Given the description of an element on the screen output the (x, y) to click on. 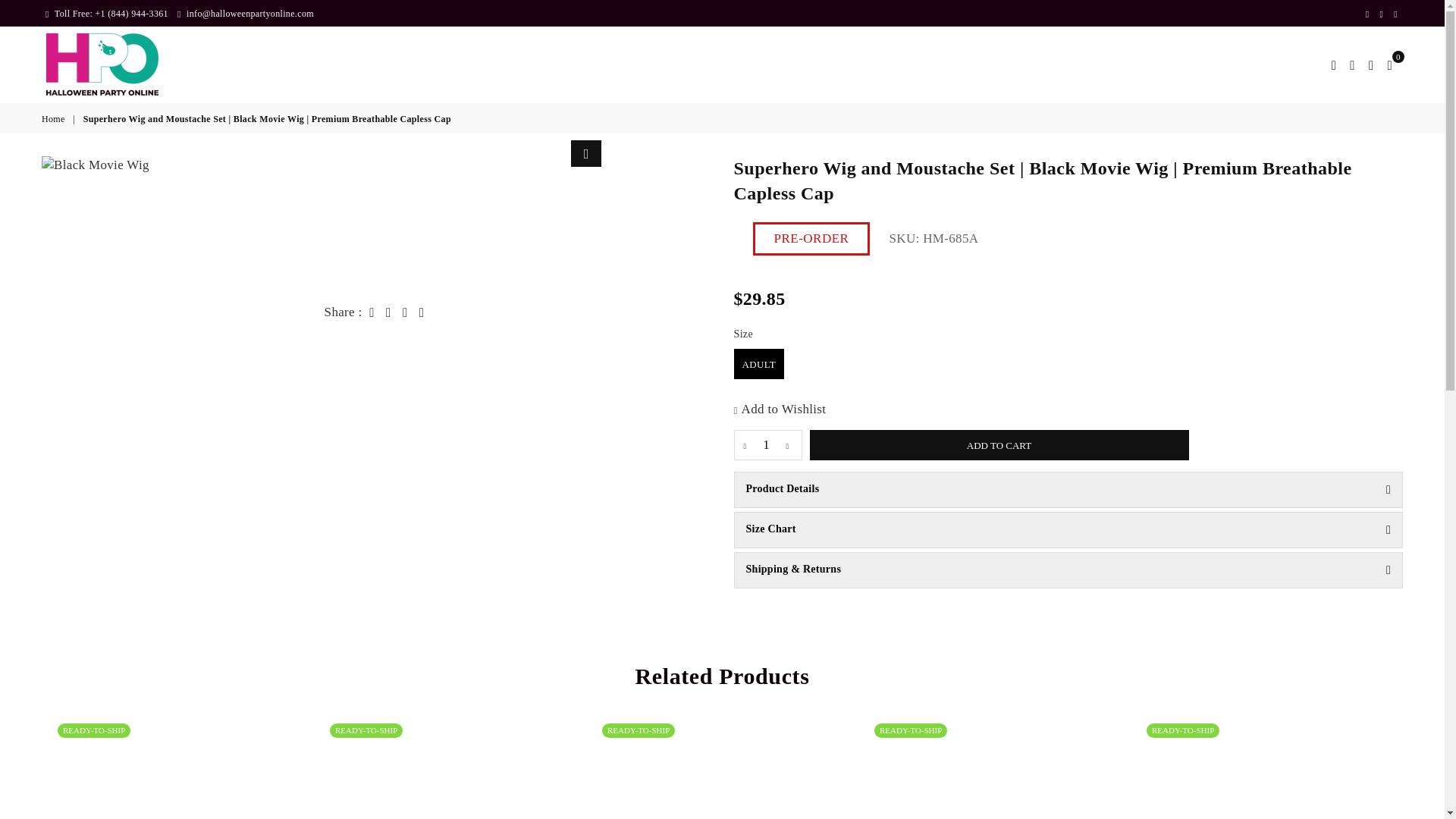
Pinterest (1381, 13)
Home (54, 119)
HalloweenPartyOnline on Facebook (1366, 13)
Instagram (1396, 13)
HalloweenPartyOnline on Instagram (1396, 13)
HalloweenPartyOnline (113, 64)
Back to the home page (54, 119)
HalloweenPartyOnline on Pinterest (1381, 13)
Facebook (1366, 13)
Quantity (767, 444)
